Given the description of an element on the screen output the (x, y) to click on. 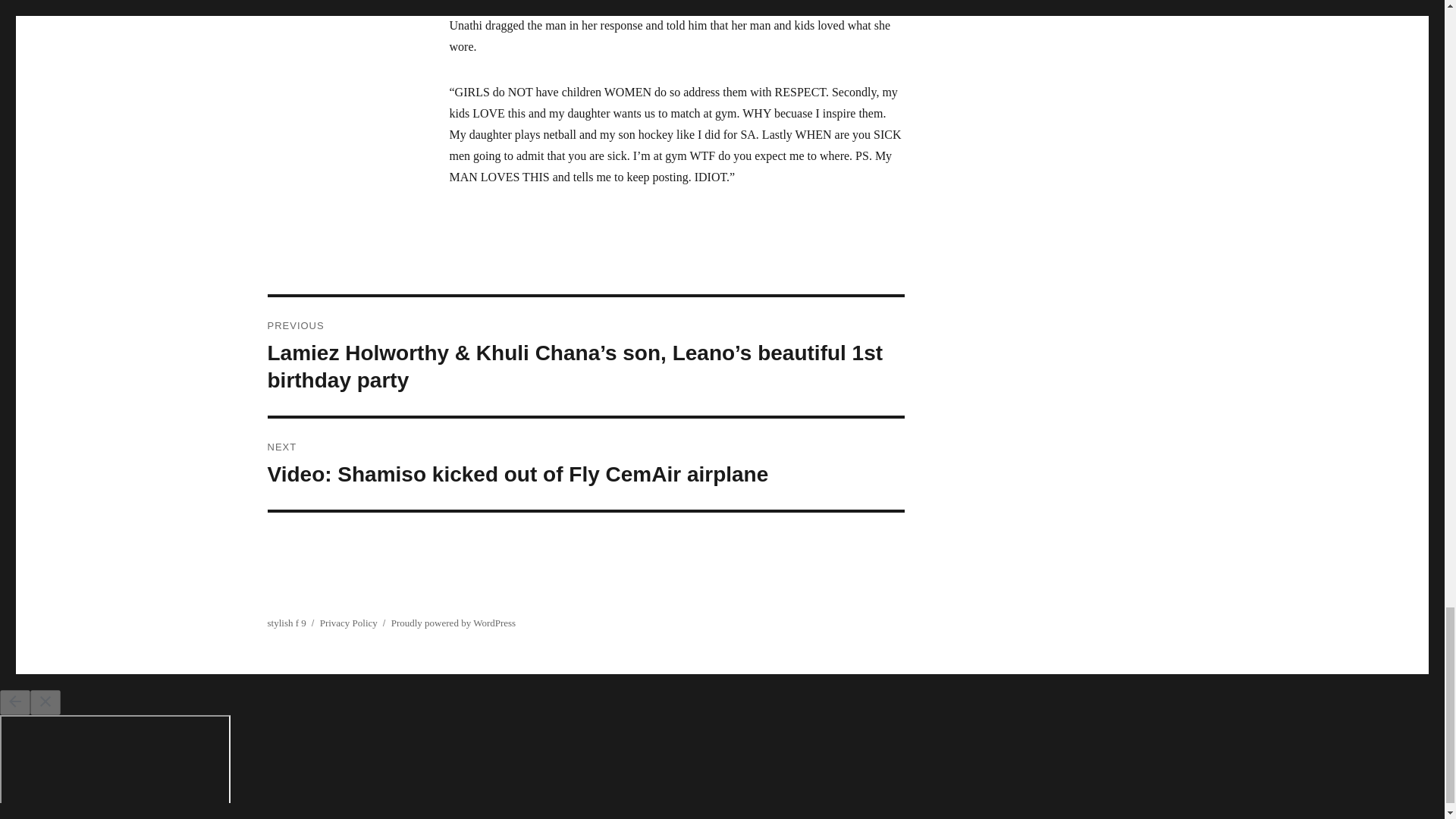
Proudly powered by WordPress (453, 622)
stylish f 9 (285, 622)
Privacy Policy (348, 622)
